Given the description of an element on the screen output the (x, y) to click on. 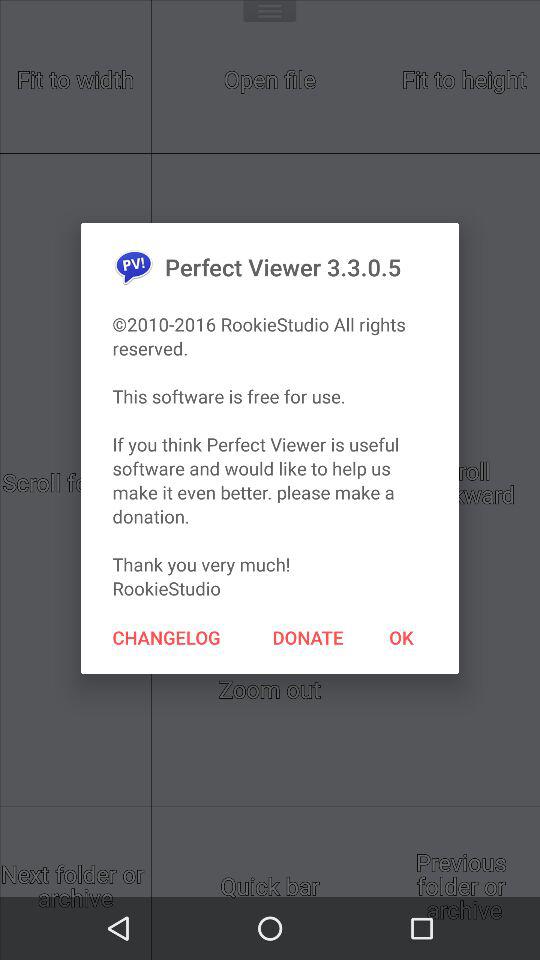
turn on the item below the 2010 2016 rookiestudio (166, 637)
